Given the description of an element on the screen output the (x, y) to click on. 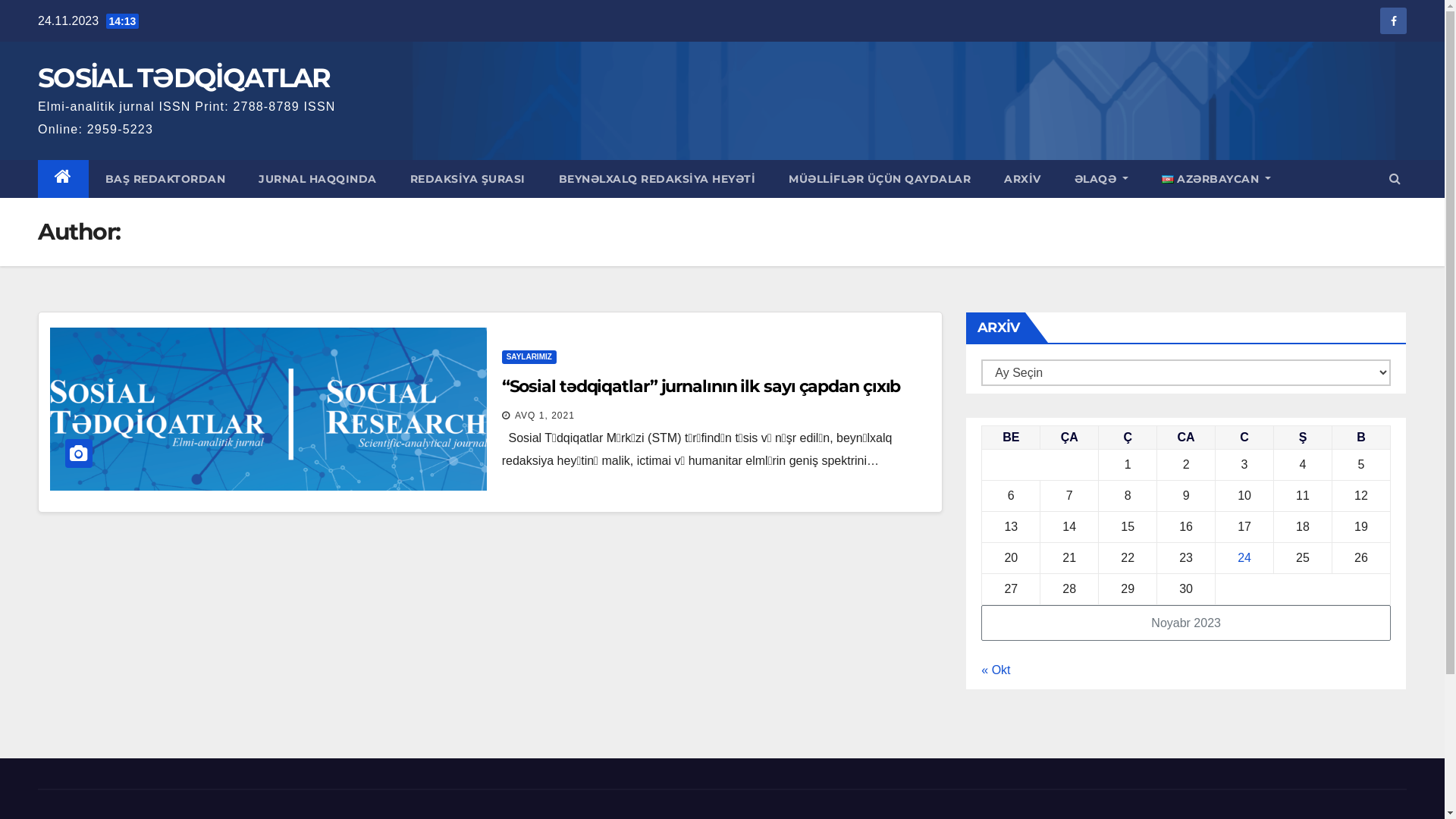
ARXIV Element type: text (1022, 178)
AVQ 1, 2021 Element type: text (544, 414)
JURNAL HAQQINDA Element type: text (317, 178)
SAYLARIMIZ Element type: text (529, 357)
